Given the description of an element on the screen output the (x, y) to click on. 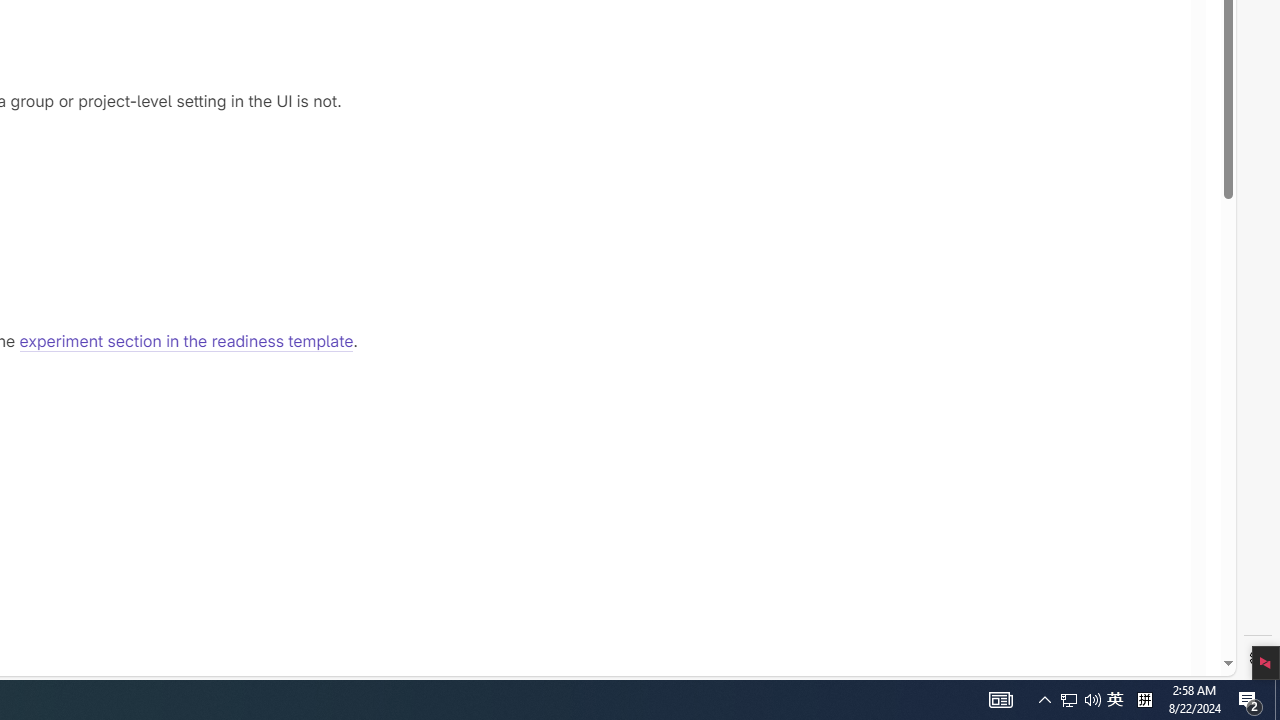
experiment section in the readiness template (186, 341)
